Given the description of an element on the screen output the (x, y) to click on. 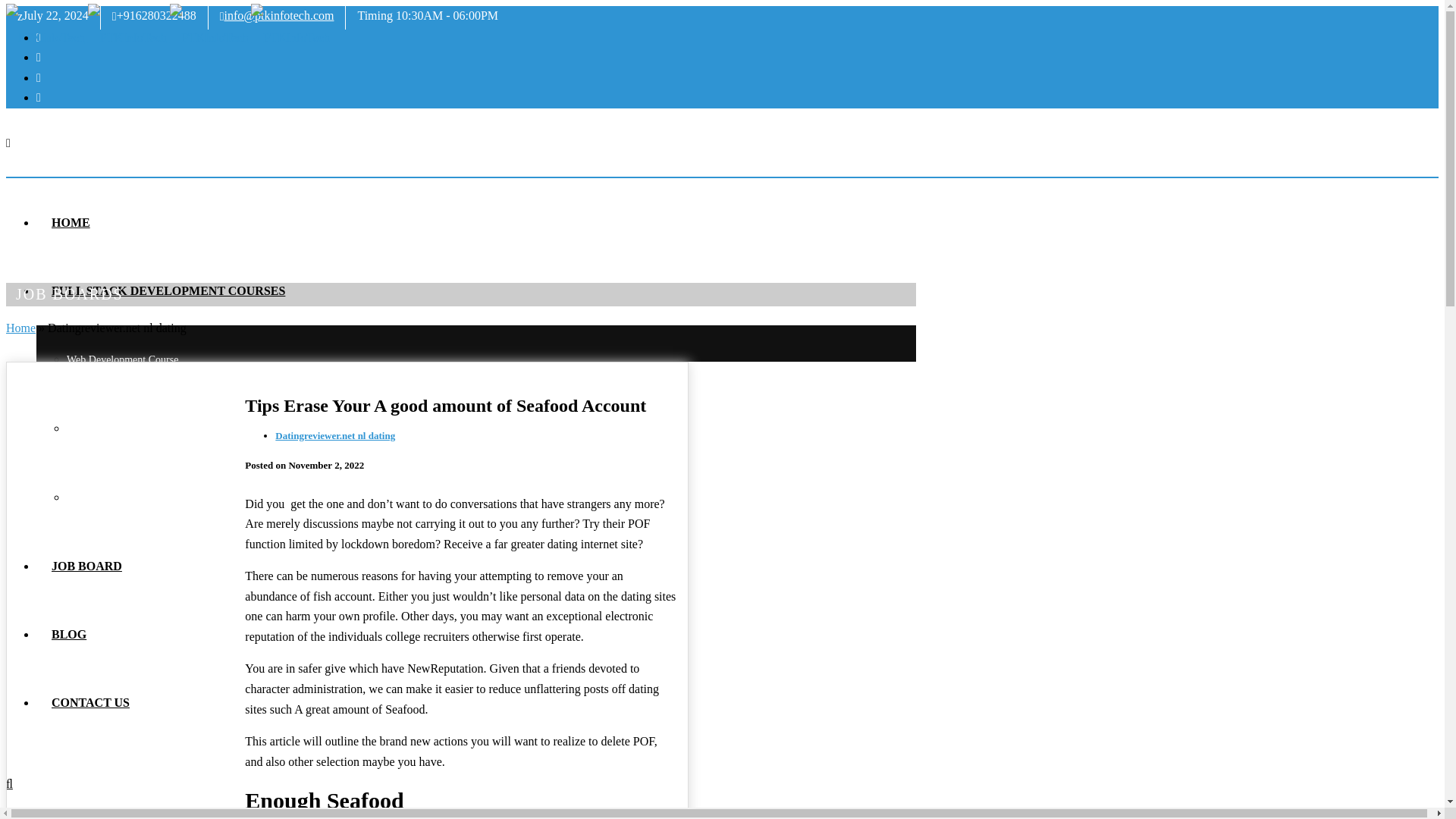
Web Development Course (121, 359)
BLOG (68, 634)
SEO Course (92, 497)
Datingreviewer.net nl dating (334, 435)
pinterest (38, 56)
FULL STACK DEVELOPMENT COURSES (167, 290)
instagram (38, 37)
JOB BOARD (86, 565)
CONTACT US (90, 702)
twitter (38, 77)
Home (19, 327)
facebook (38, 97)
Web Designing Course (115, 428)
PTKInfoTech (167, 37)
HOME (70, 222)
